Given the description of an element on the screen output the (x, y) to click on. 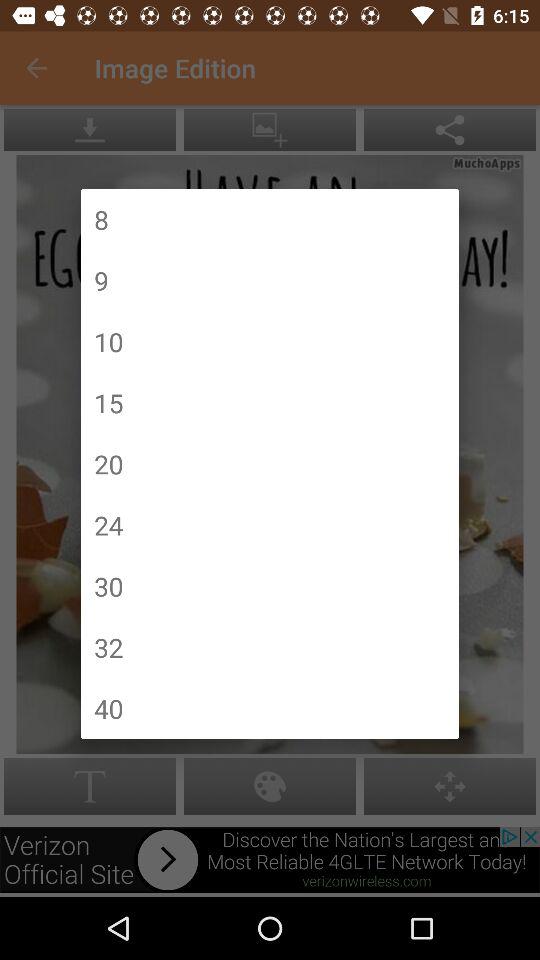
scroll to the 8 item (101, 219)
